Given the description of an element on the screen output the (x, y) to click on. 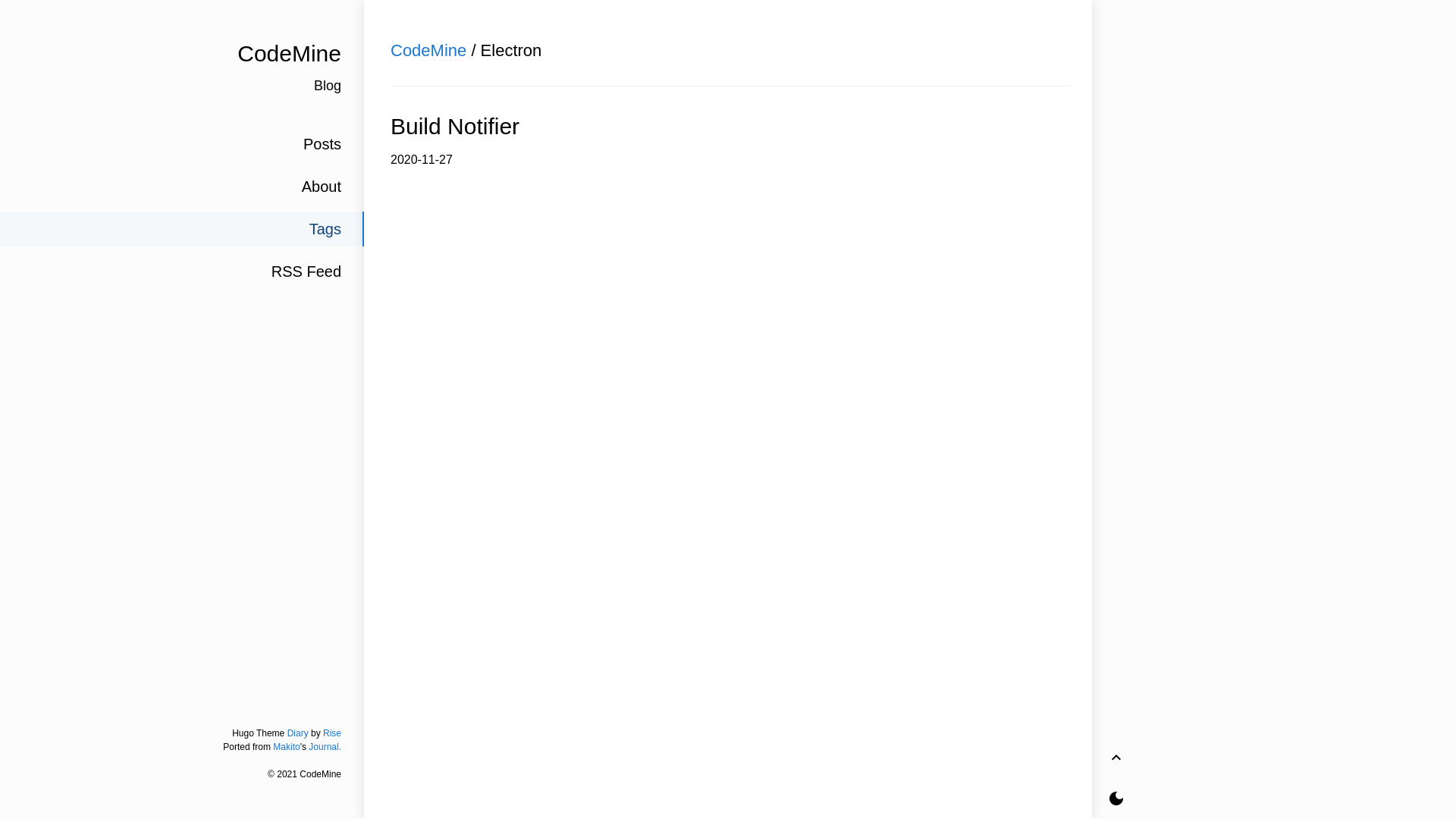
Diary Element type: text (297, 733)
Tags Element type: text (182, 228)
CodeMine Element type: text (428, 49)
keyboard_arrow_up Element type: text (1116, 757)
About Element type: text (182, 186)
Journal. Element type: text (324, 746)
CodeMine
Blog Element type: text (182, 67)
Posts Element type: text (182, 143)
Build Notifier
2020-11-27 Element type: text (728, 138)
Makito Element type: text (286, 746)
Rise Element type: text (332, 733)
RSS Feed Element type: text (182, 271)
